Given the description of an element on the screen output the (x, y) to click on. 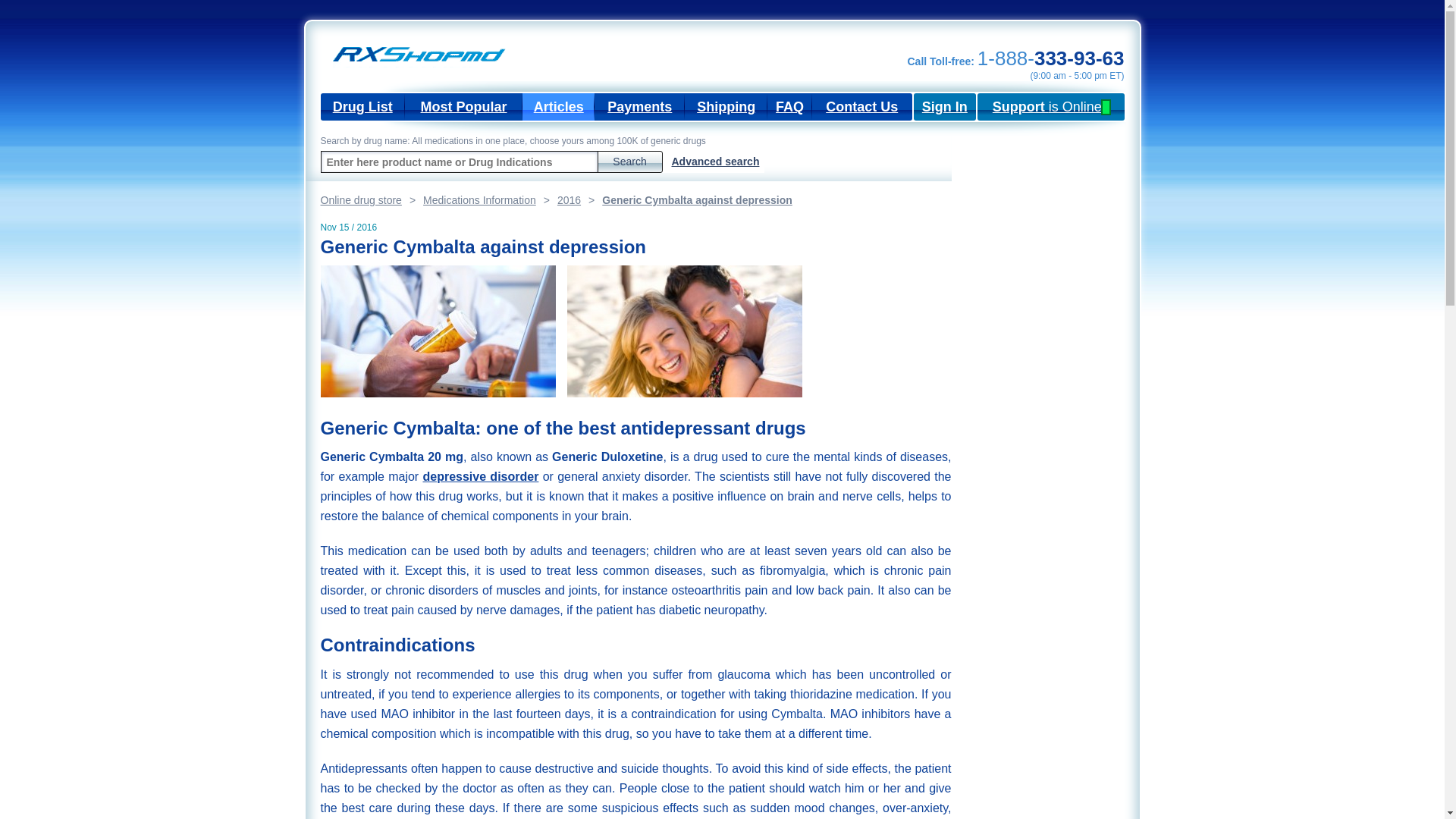
Search (629, 161)
Medications Information (490, 200)
depressive disorder (480, 476)
Support is Online (1050, 106)
Generic Cymbalta against depression (684, 331)
Contact Us (862, 106)
Generic Cymbalta against depression (437, 331)
Search (629, 161)
Shipping (725, 106)
Online drug store (371, 200)
